Given the description of an element on the screen output the (x, y) to click on. 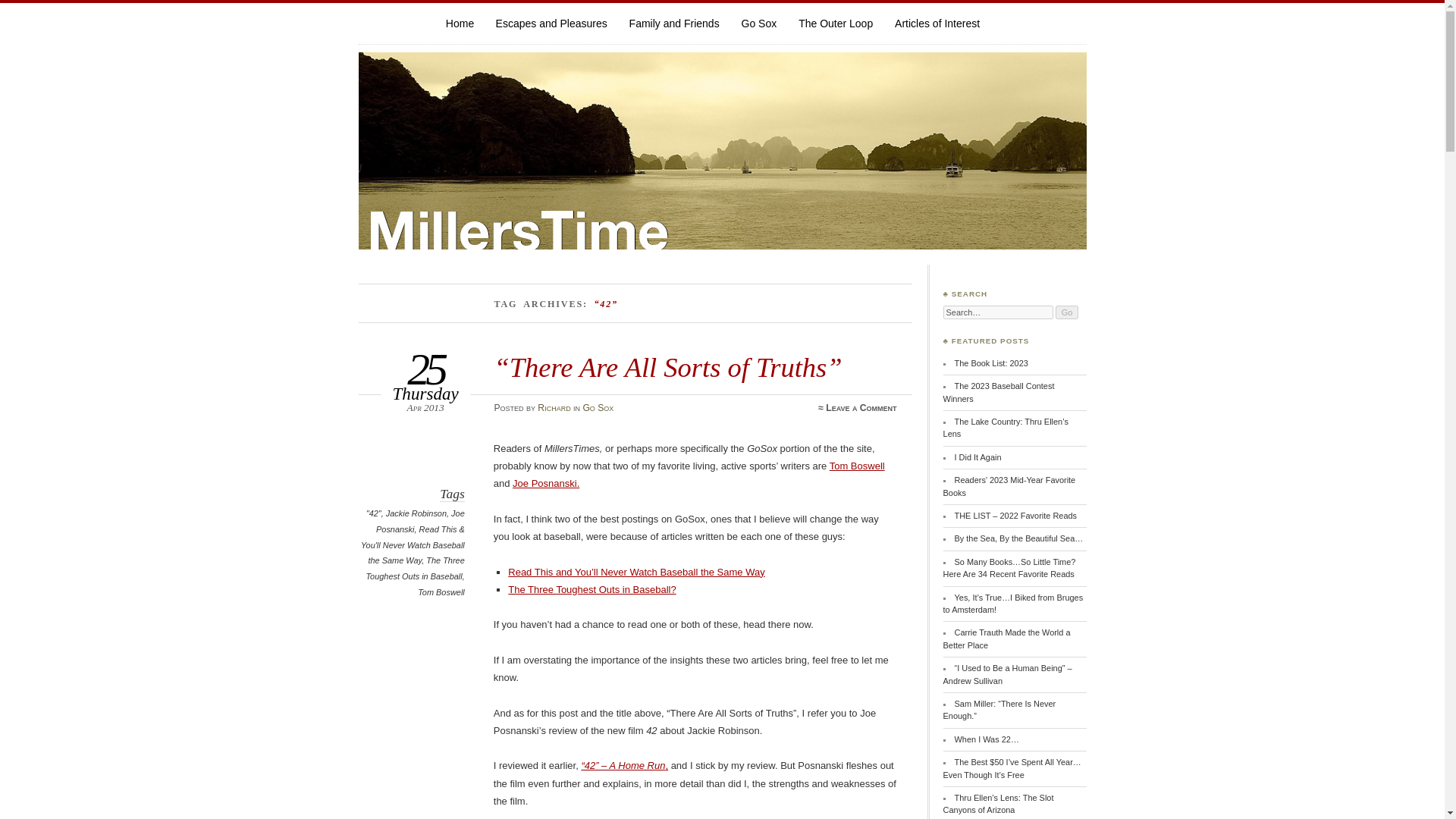
The Outer Loop (834, 23)
View all posts by Richard (553, 407)
Home (459, 23)
Joe Posnanski (419, 520)
The Three Toughest Outs in Baseball? (591, 589)
The Three Toughest Outs in Baseball (414, 568)
Escapes and Pleasures (551, 23)
Go (1066, 312)
Permanent Link: The 2023 Baseball Contest Winners (998, 391)
Leave a Comment (860, 407)
